Given the description of an element on the screen output the (x, y) to click on. 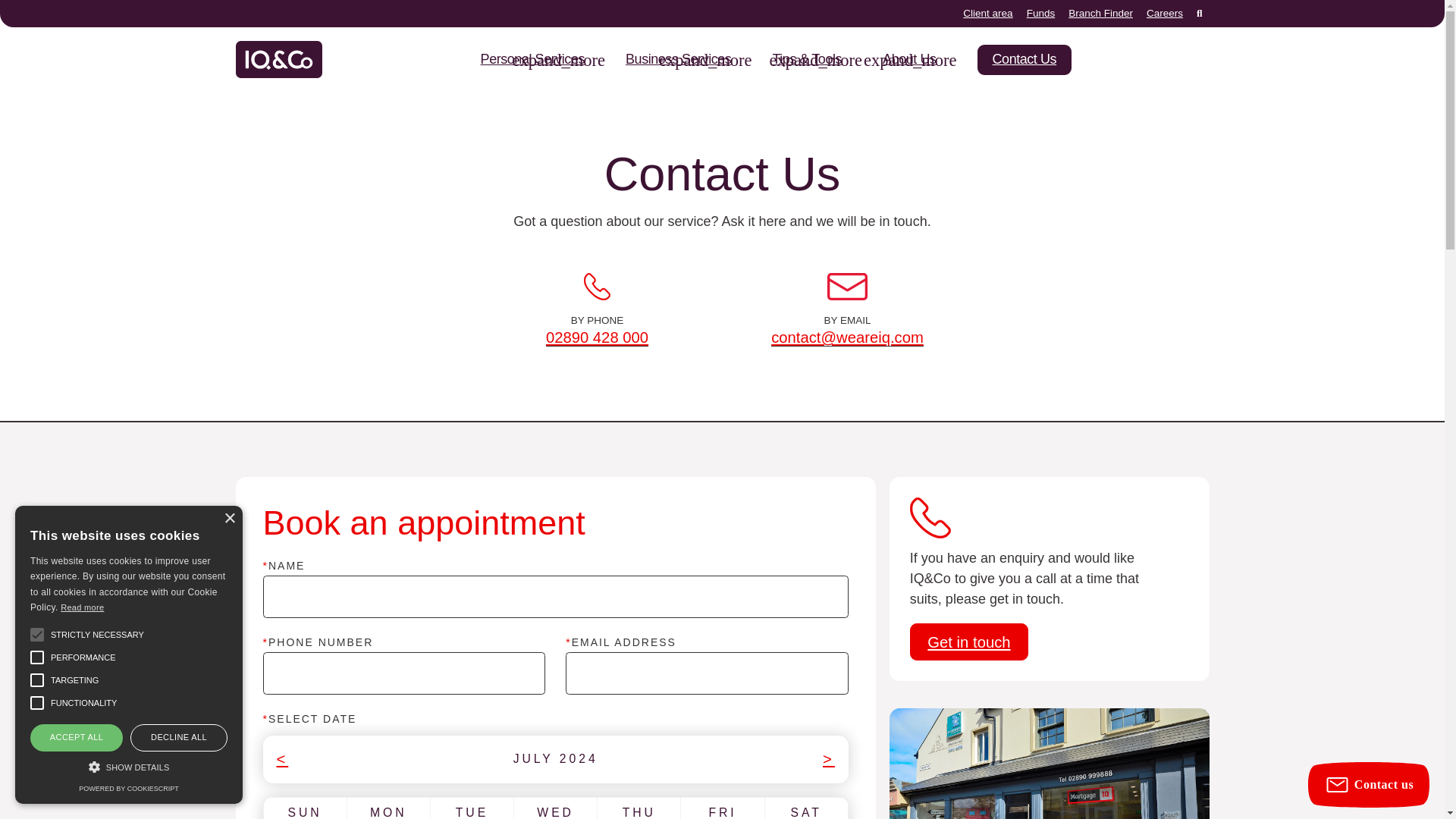
About Us (909, 59)
Careers (1164, 12)
Thursday (638, 811)
Friday (721, 811)
Sunday (304, 811)
Personal Services (532, 59)
Monday (388, 811)
Funds (1040, 12)
Contact Us (1023, 60)
Branch Finder (1100, 12)
Business Services (678, 59)
Tuesday (471, 811)
Wednesday (555, 811)
Saturday (806, 811)
Consent Management Platform (127, 788)
